Given the description of an element on the screen output the (x, y) to click on. 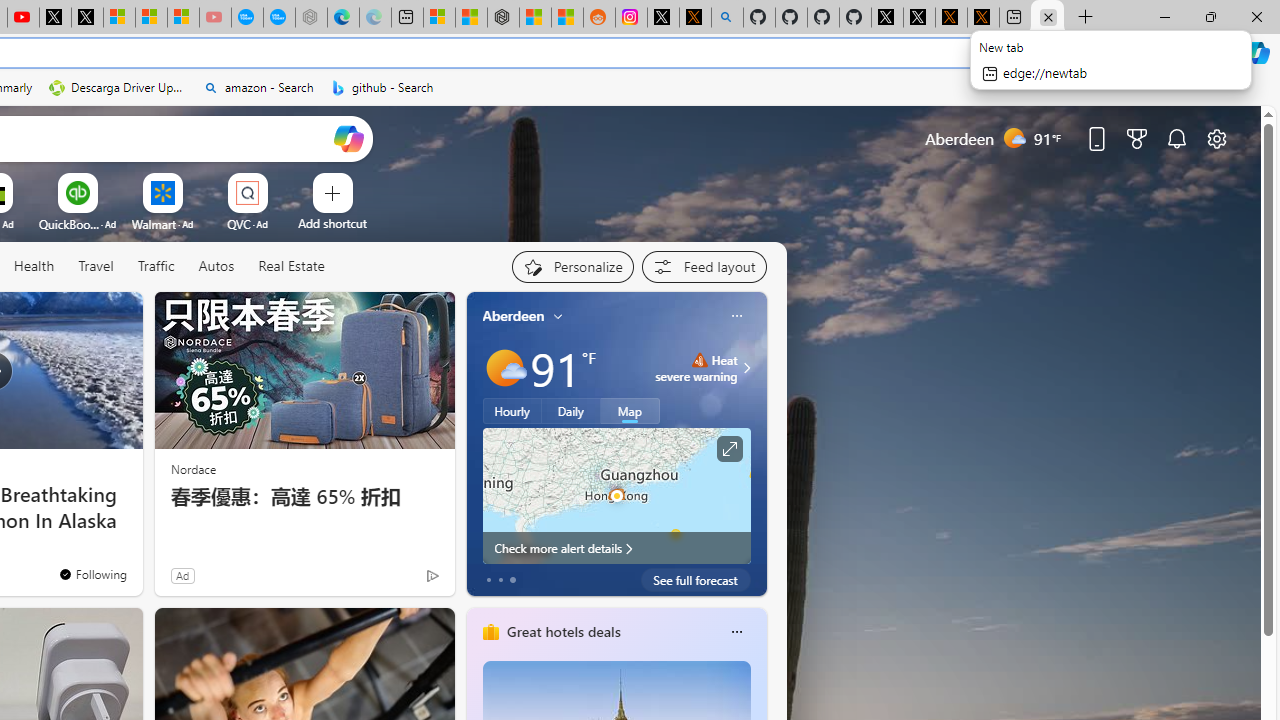
Profile / X (886, 17)
Opinion: Op-Ed and Commentary - USA TODAY (246, 17)
github - Search (381, 88)
hotels-header-icon (490, 632)
My location (558, 315)
